Given the description of an element on the screen output the (x, y) to click on. 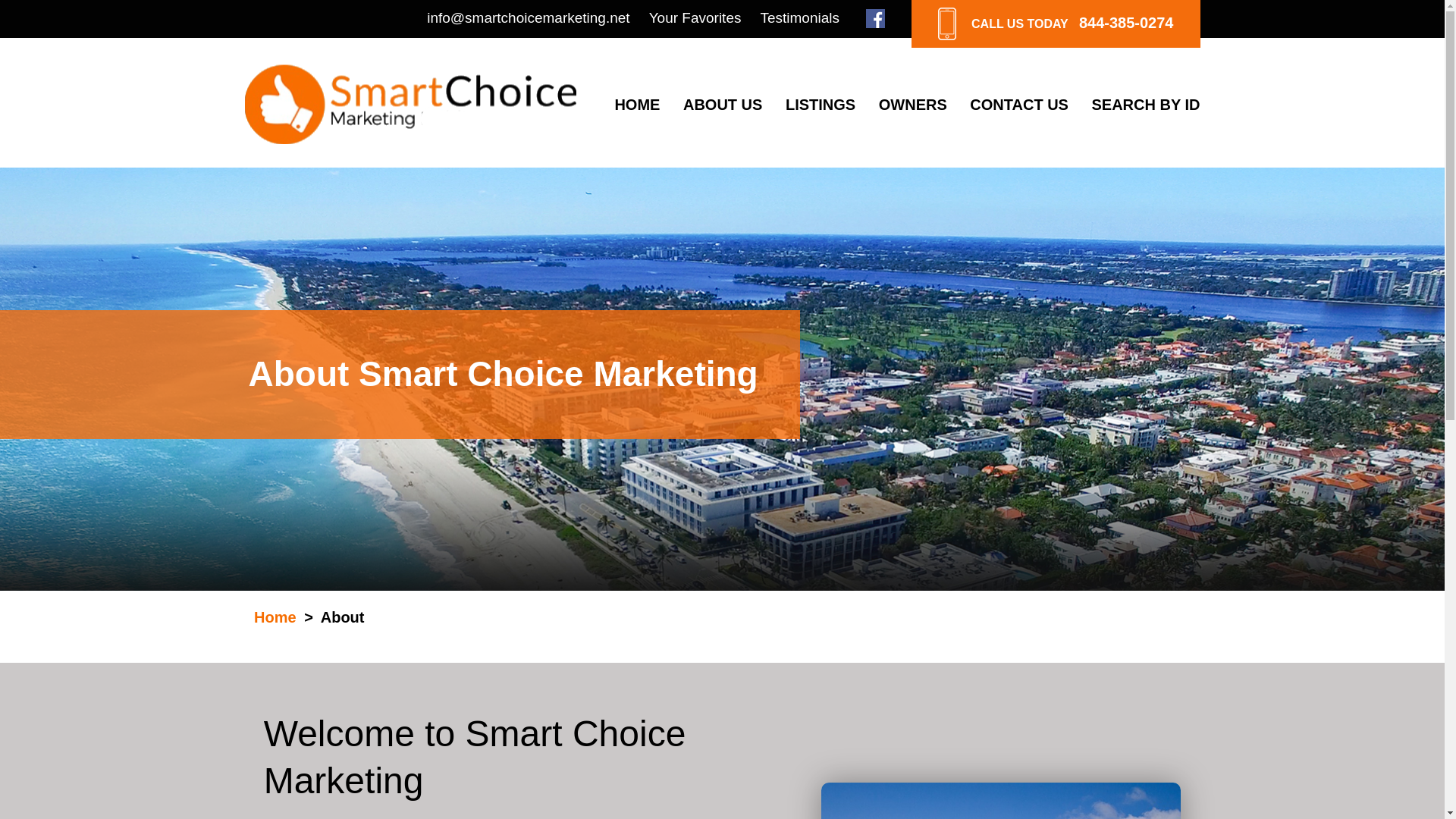
Testimonials (800, 18)
SEARCH BY ID (1145, 104)
OWNERS (913, 104)
Home (275, 617)
ABOUT US (721, 104)
CALL US TODAY 844-385-0274 (1055, 23)
LISTINGS (821, 104)
Your Favorites (695, 18)
HOME (636, 104)
CONTACT US (1018, 104)
